Given the description of an element on the screen output the (x, y) to click on. 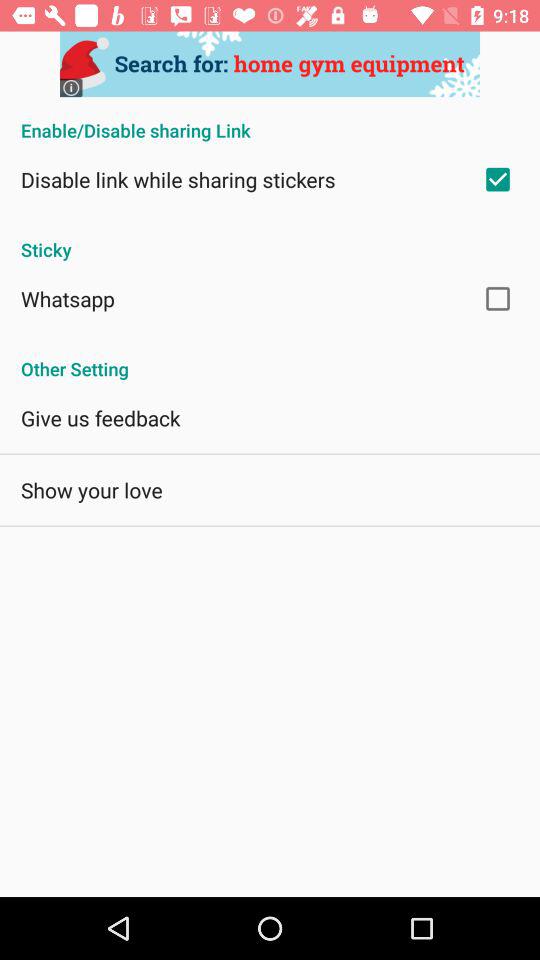
click the app below the sticky app (67, 298)
